Given the description of an element on the screen output the (x, y) to click on. 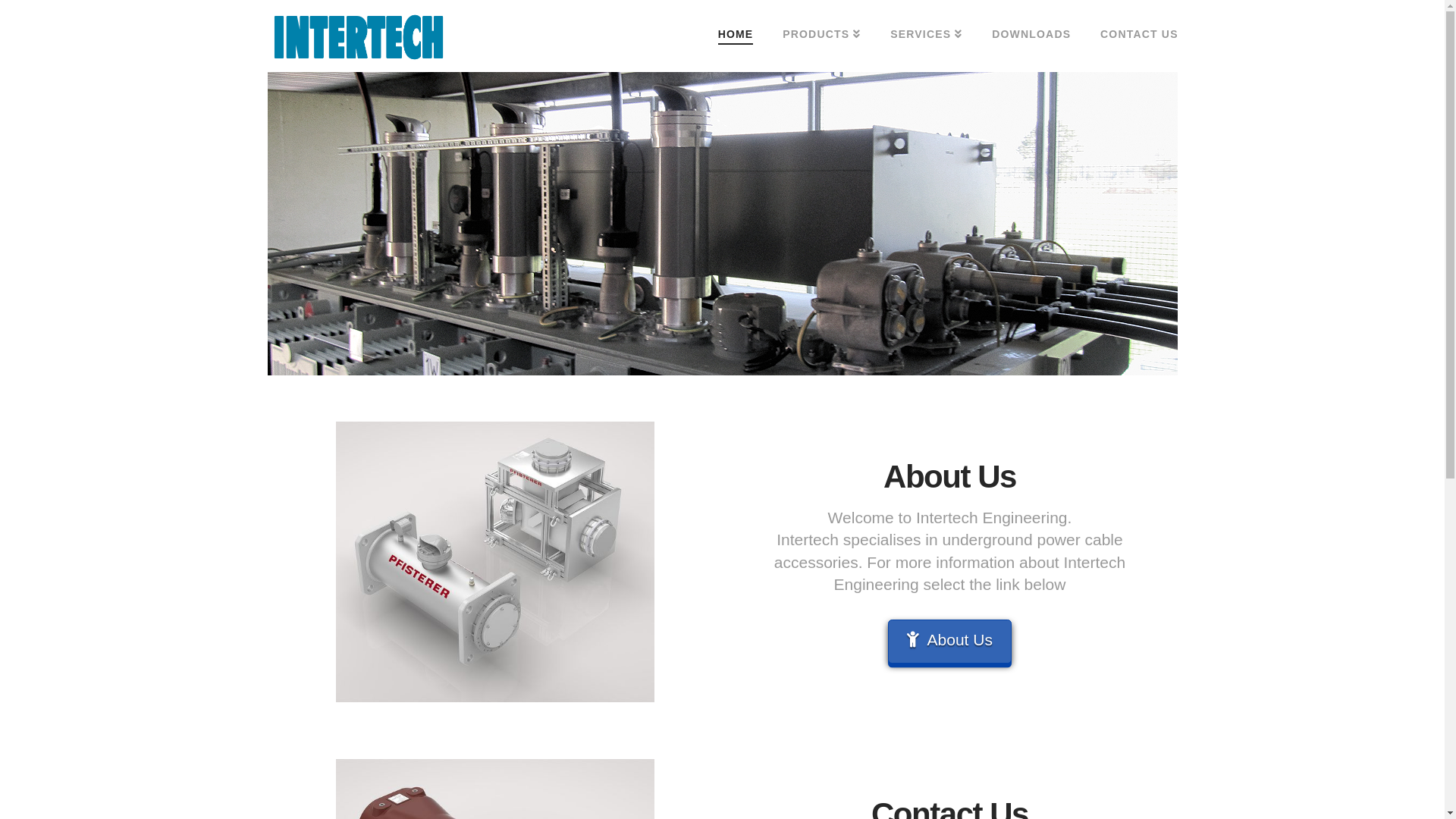
DOWNLOADS Element type: text (1030, 34)
HOME Element type: text (735, 34)
SERVICES Element type: text (925, 34)
CONTACT US Element type: text (1130, 34)
About Us Element type: text (949, 641)
PRODUCTS Element type: text (821, 34)
